Given the description of an element on the screen output the (x, y) to click on. 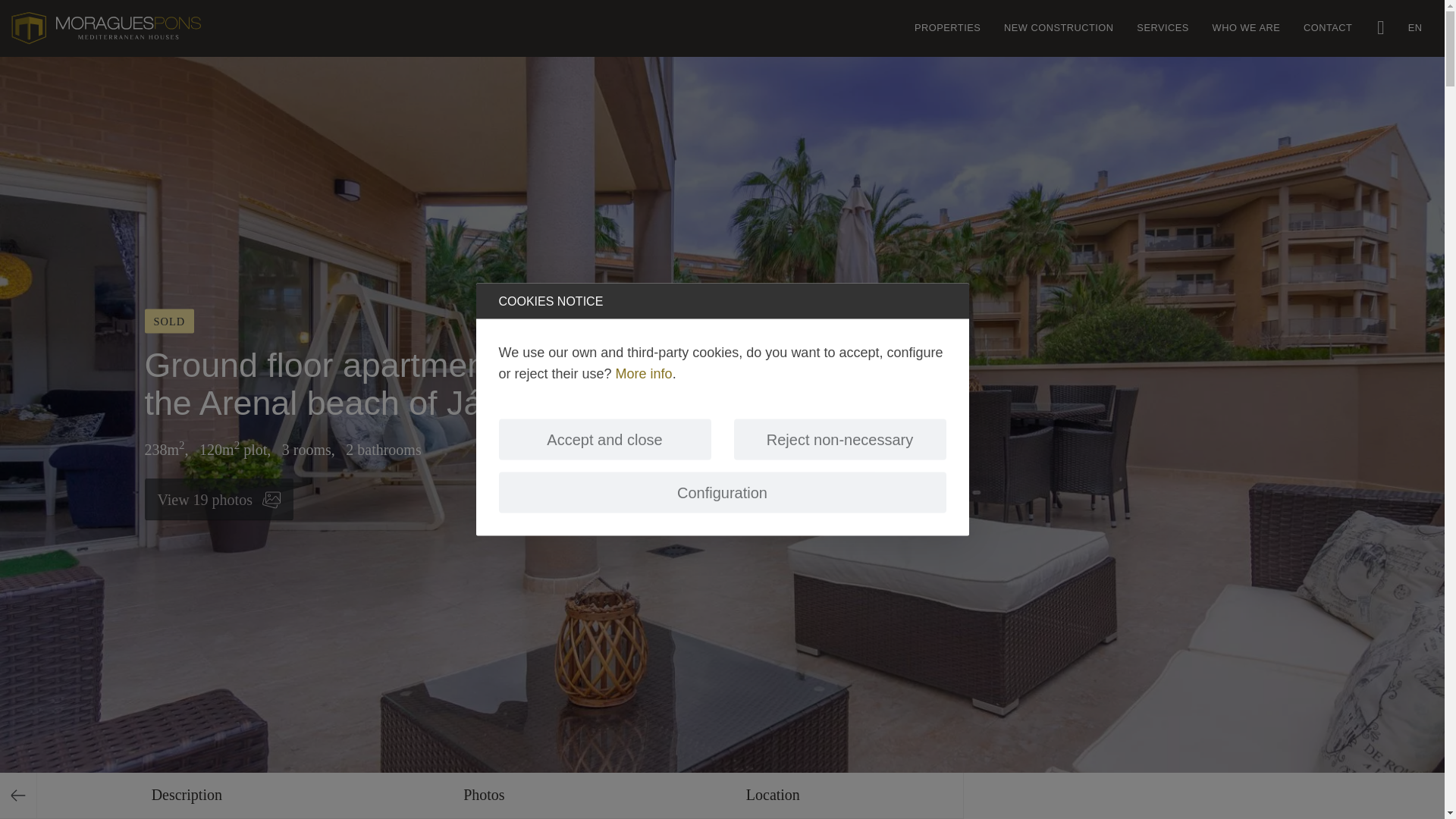
Reject non-necessary (839, 438)
PROPERTIES (947, 28)
View 19 photos (218, 498)
CONTACT (1327, 28)
Location (772, 796)
WHO WE ARE (1245, 28)
Accept and close (605, 438)
Features (186, 796)
Map (772, 796)
SERVICES (1162, 28)
NEW CONSTRUCTION (1058, 28)
Description (481, 796)
Configuration (186, 796)
